Given the description of an element on the screen output the (x, y) to click on. 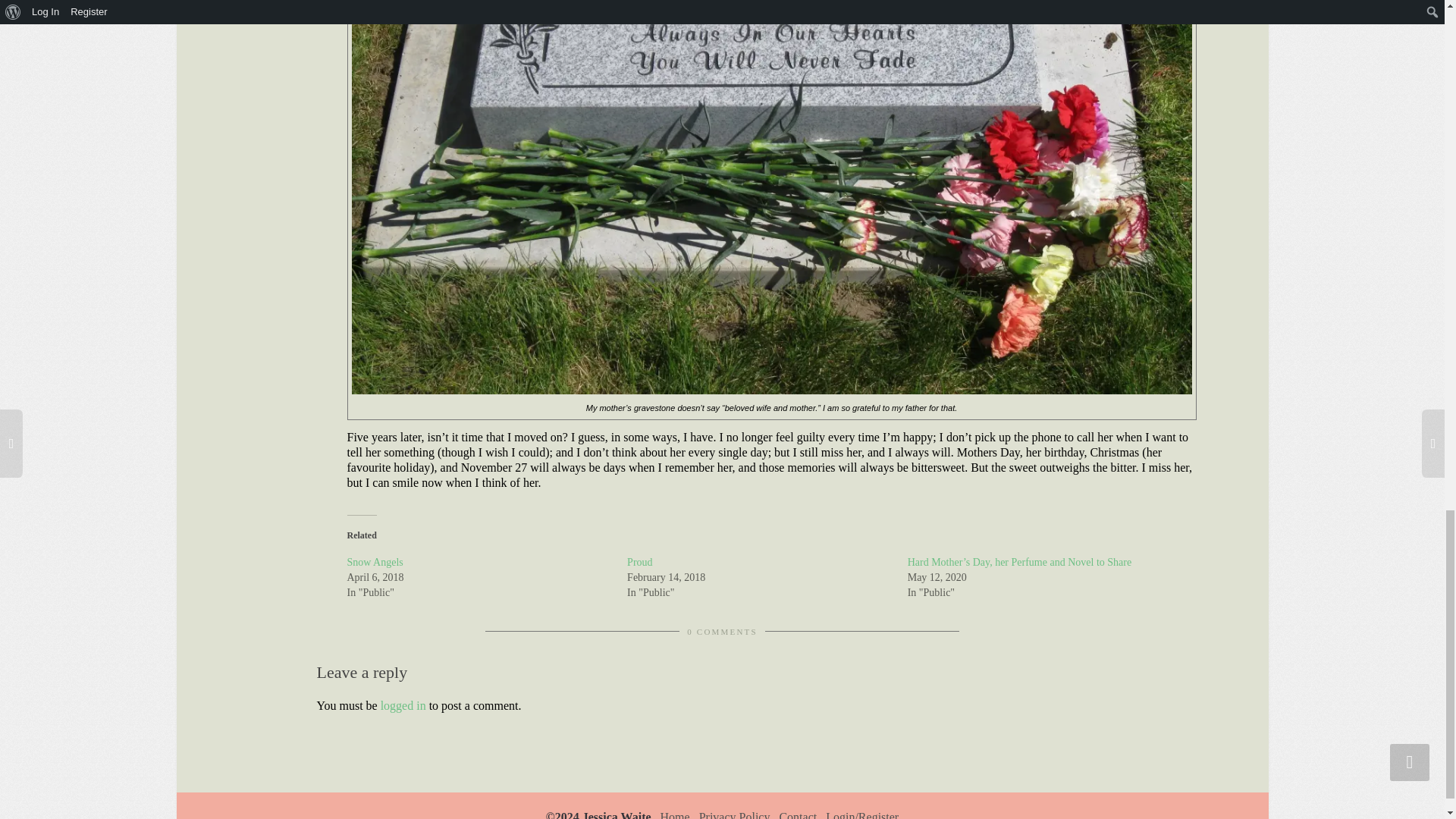
Snow Angels (375, 562)
Snow Angels (375, 562)
Proud (639, 562)
logged in (403, 705)
Proud (639, 562)
